Given the description of an element on the screen output the (x, y) to click on. 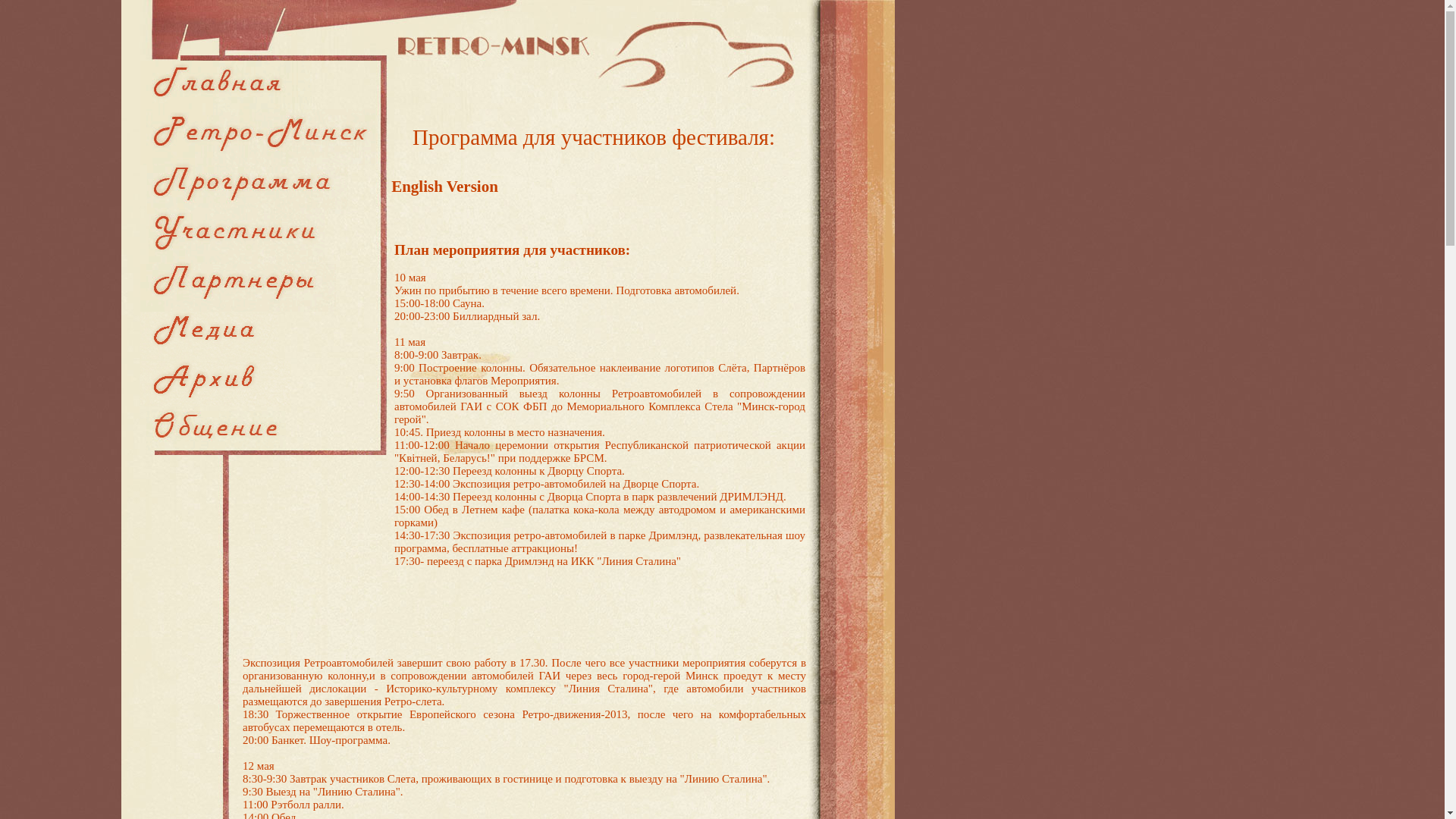
English Version Element type: text (444, 186)
